Given the description of an element on the screen output the (x, y) to click on. 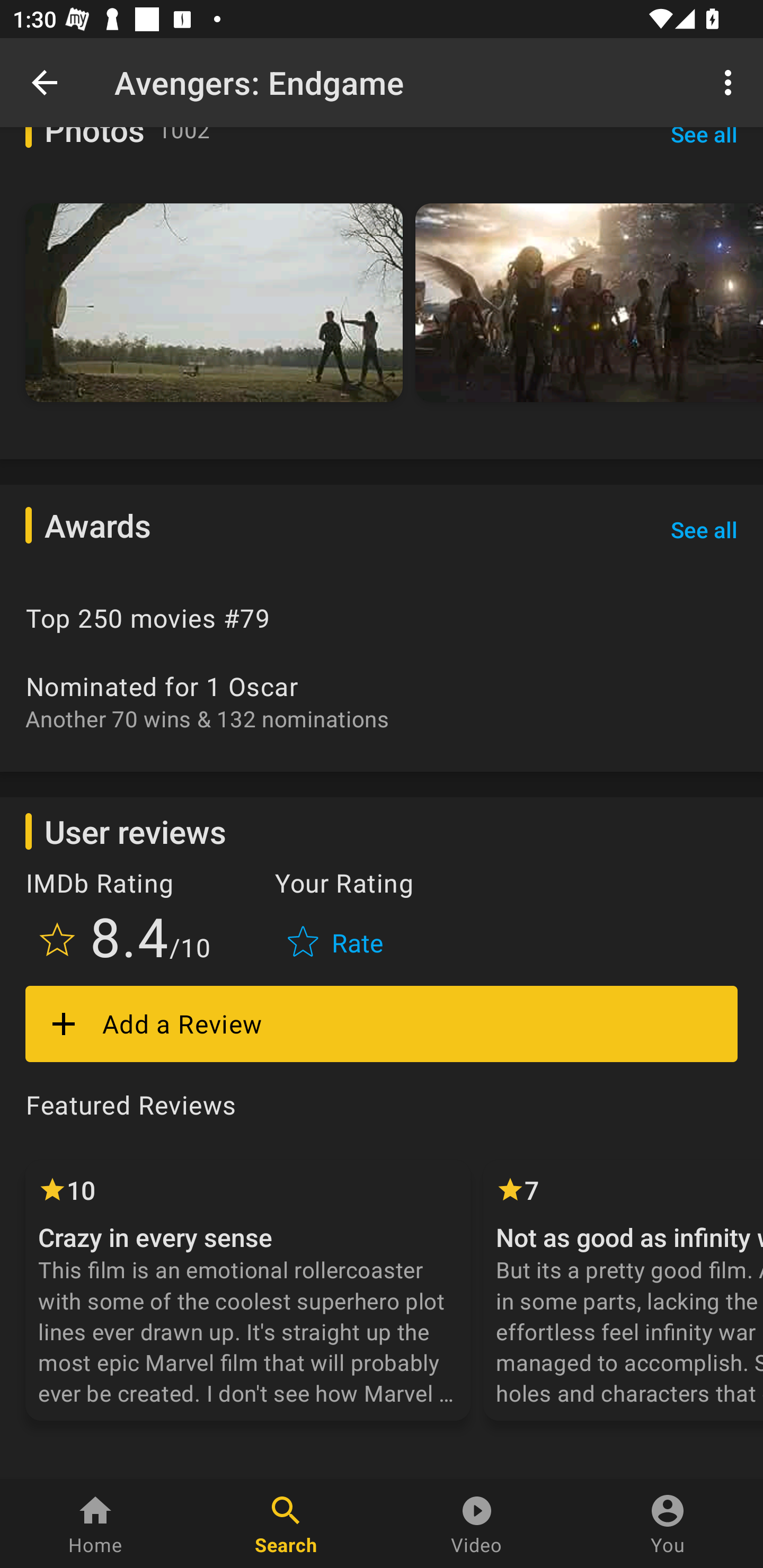
More options (731, 81)
See all See all Photos (703, 149)
See all See all Awards (703, 529)
Top 250 movies #79 (381, 618)
Your Rating Rate (337, 919)
Add a Review (381, 1023)
Home (95, 1523)
Video (476, 1523)
You (667, 1523)
